Given the description of an element on the screen output the (x, y) to click on. 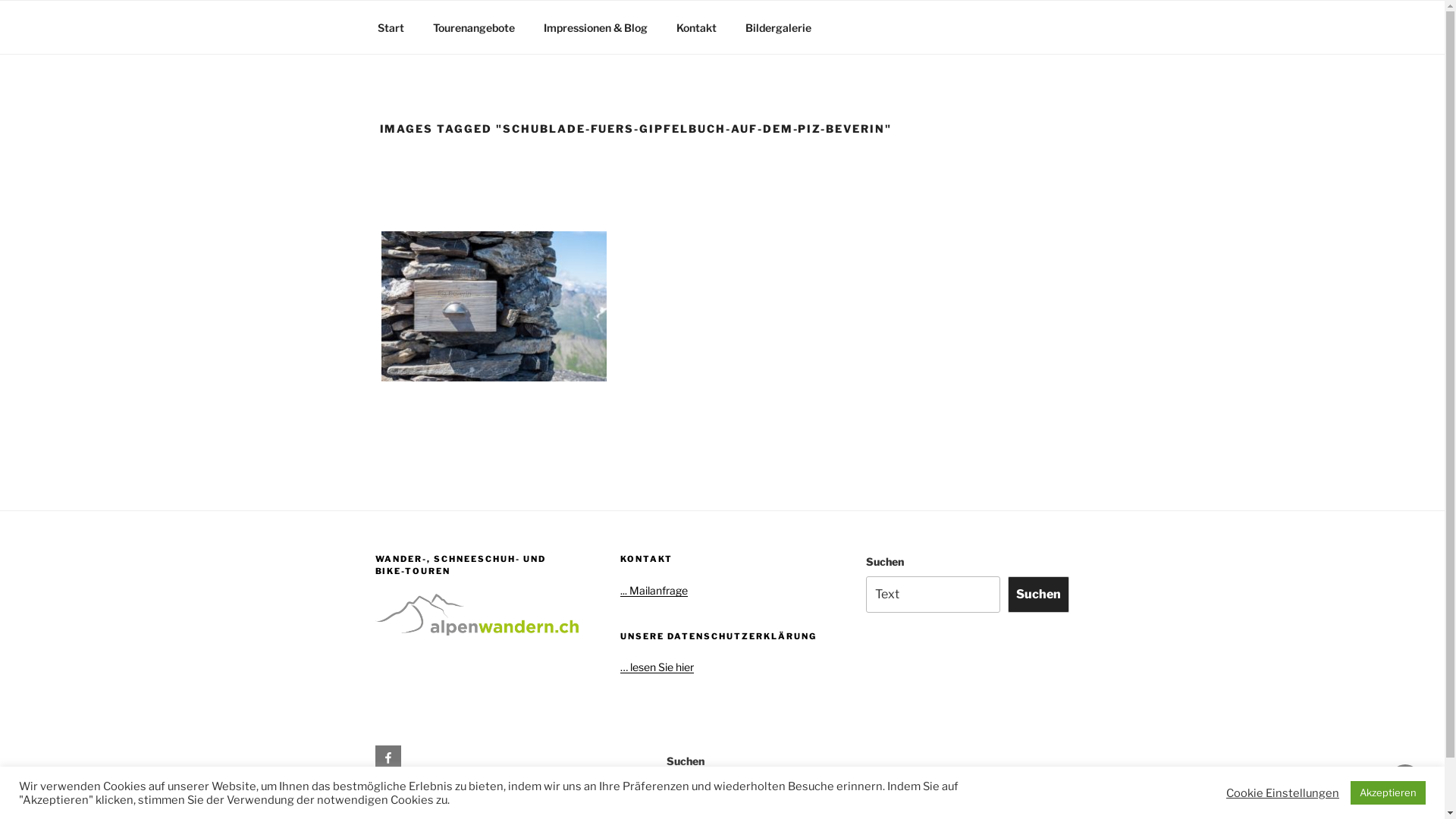
Cookie Einstellungen Element type: text (1282, 792)
Impressionen & Blog Element type: text (595, 27)
Facebook Element type: text (387, 758)
Akzeptieren Element type: text (1387, 792)
Start Element type: text (390, 27)
Tourenangebote Element type: text (474, 27)
Bildergalerie Element type: text (778, 27)
... Mailanfrage Element type: text (653, 589)
Suchen Element type: text (1038, 793)
Suchen Element type: text (1038, 594)
Kontakt Element type: text (695, 27)
